Given the description of an element on the screen output the (x, y) to click on. 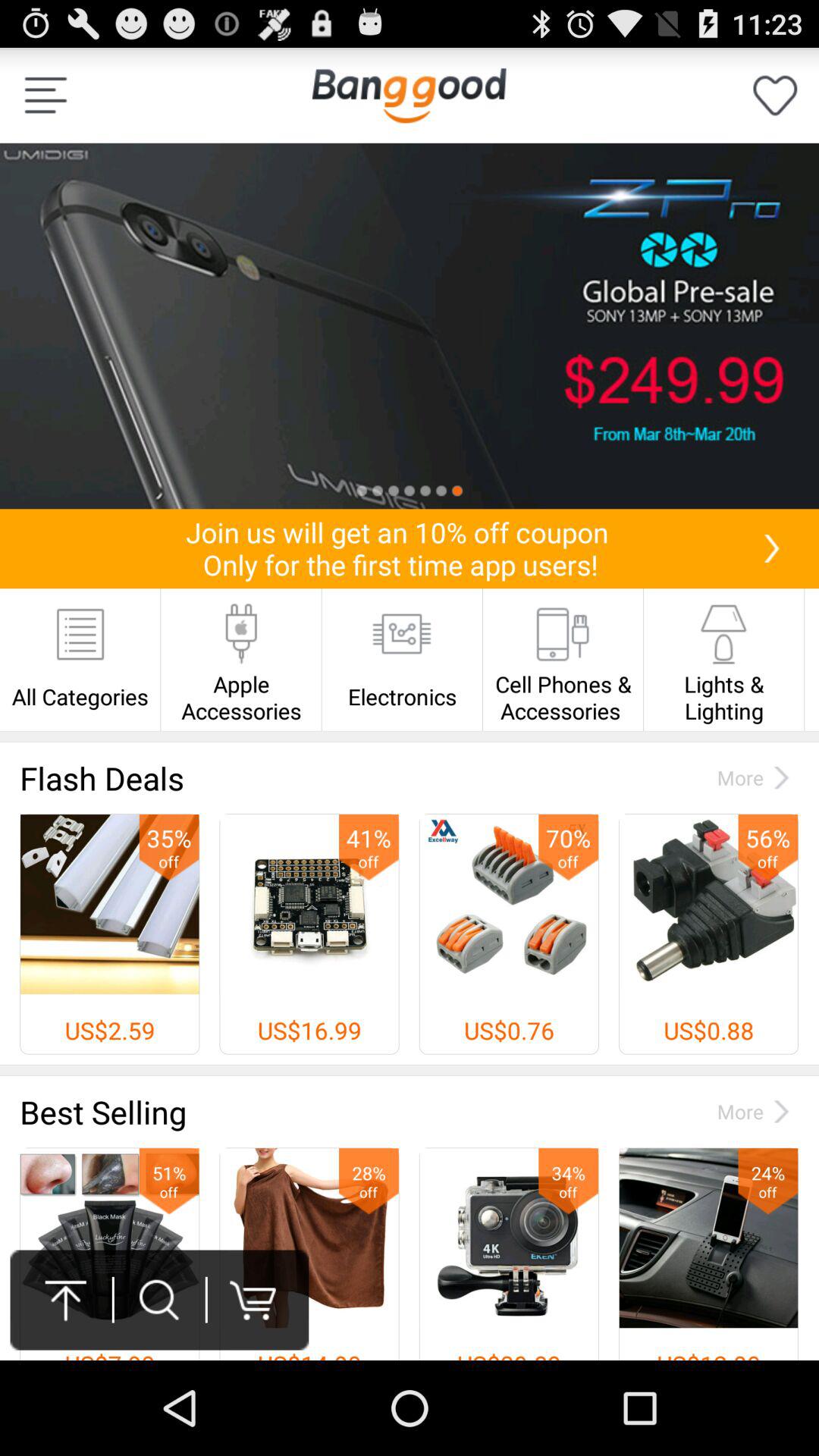
go to homepage (409, 95)
